Given the description of an element on the screen output the (x, y) to click on. 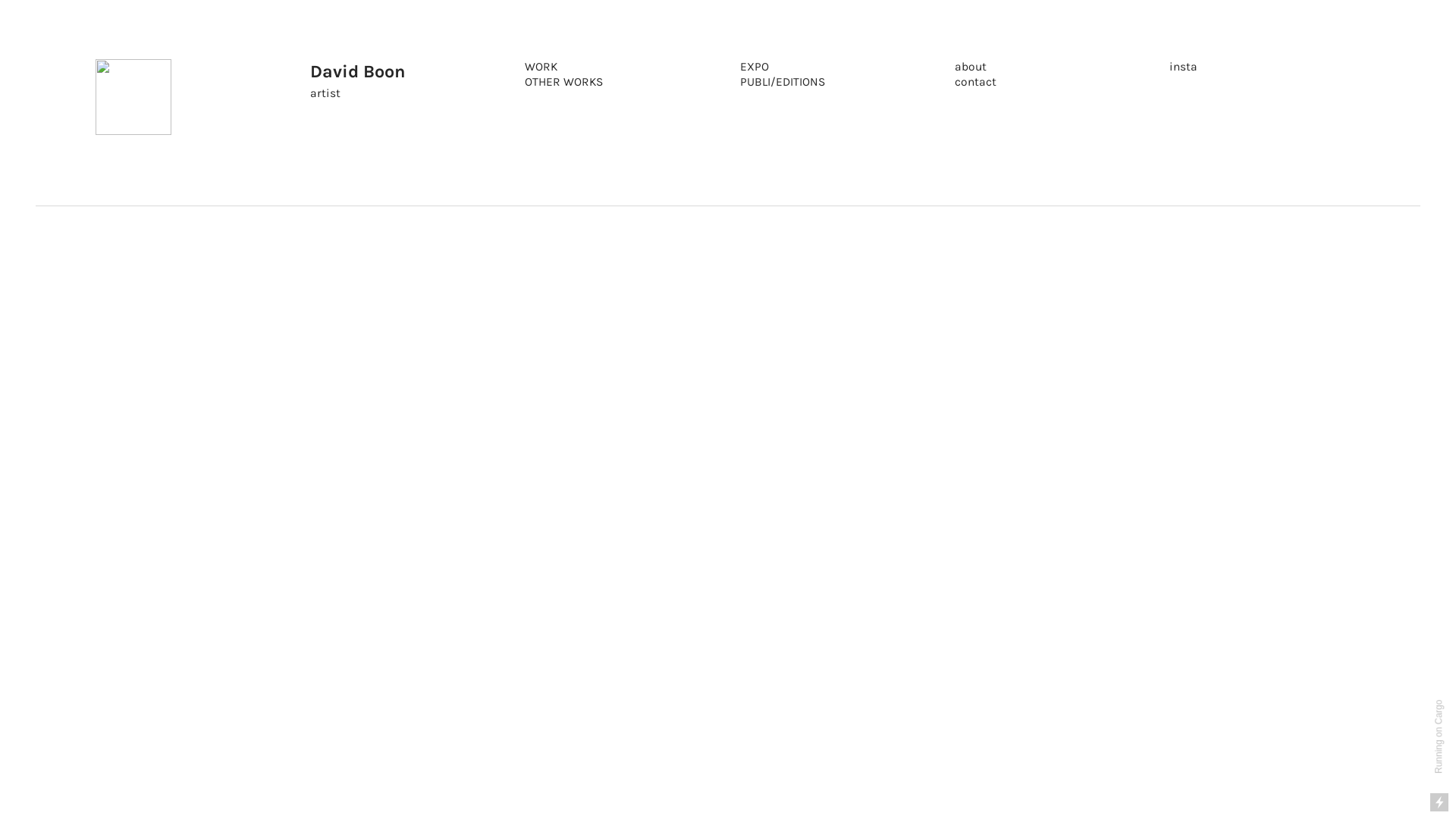
EXPO Element type: text (754, 67)
OTHER WORKS Element type: text (563, 82)
PUBLI/EDITIONS Element type: text (782, 82)
insta Element type: text (1183, 67)
David Boon Element type: text (357, 72)
contact Element type: text (975, 82)
about Element type: text (970, 67)
WORK Element type: text (540, 67)
